Given the description of an element on the screen output the (x, y) to click on. 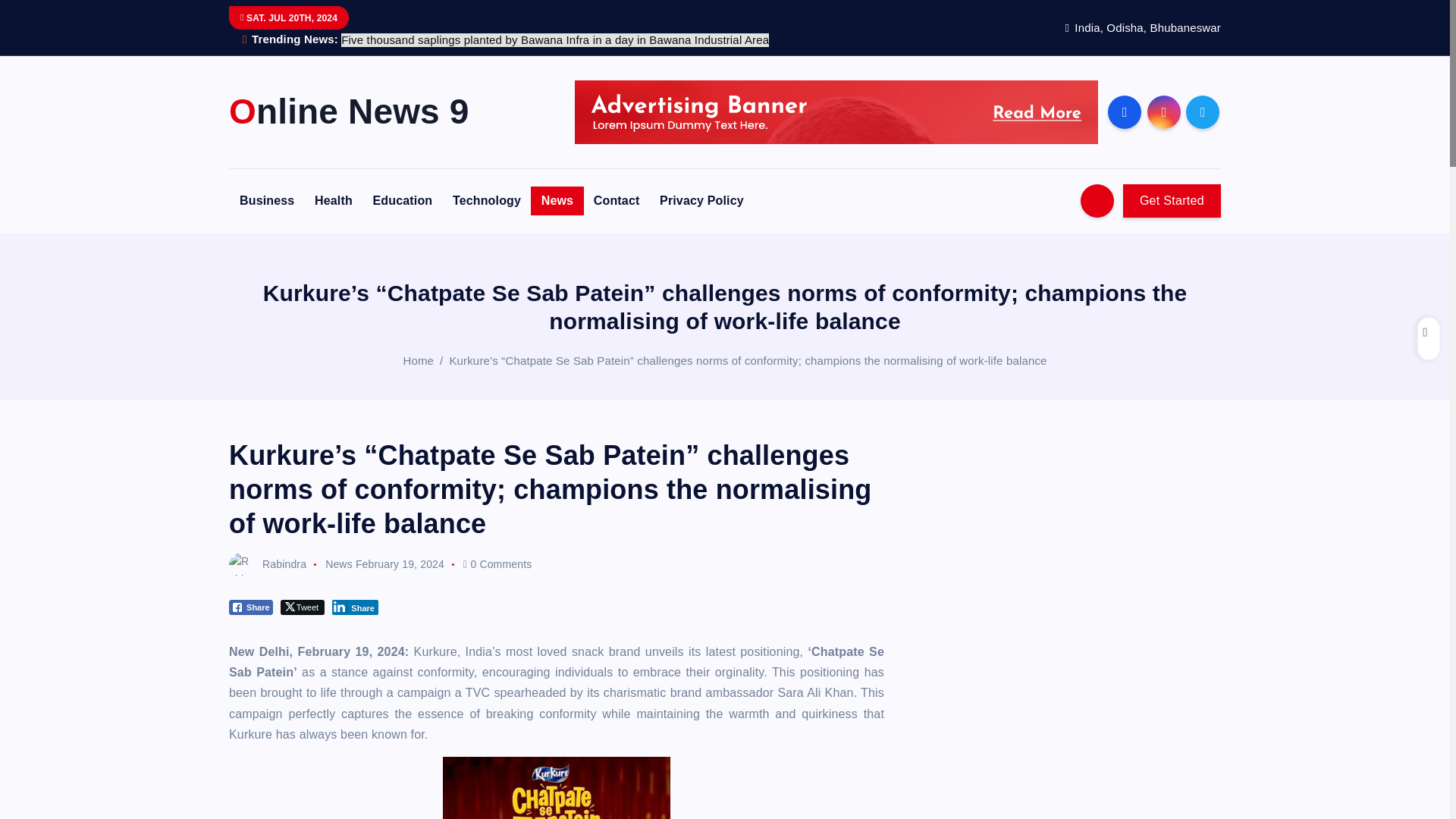
Education (403, 200)
News (338, 563)
Contact (616, 200)
News (557, 200)
Privacy Policy (701, 200)
Business (266, 200)
Contact (616, 200)
Technology (486, 200)
Home (418, 359)
Health (333, 200)
Share (250, 607)
News (557, 200)
Tweet (302, 607)
Rabindra (266, 563)
Technology (486, 200)
